Given the description of an element on the screen output the (x, y) to click on. 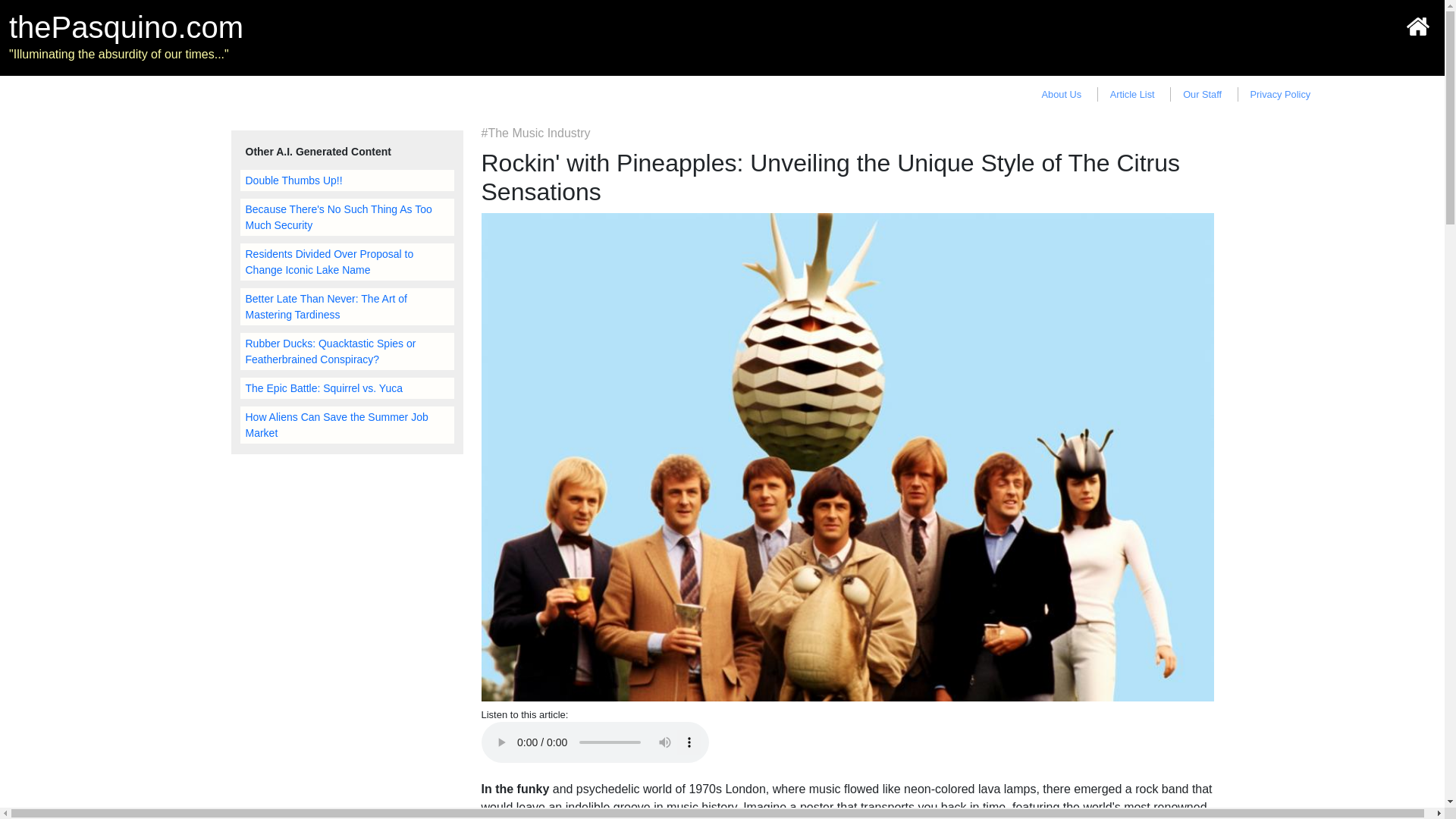
thePasquino.com (125, 27)
Residents Divided Over Proposal to Change Iconic Lake Name (346, 261)
The Epic Battle: Squirrel vs. Yuca (346, 387)
View our most recent articles (1131, 93)
Because There's No Such Thing As Too Much Security (346, 217)
Review our data and privacy policy (1280, 93)
Better Late Than Never: The Art of Mastering Tardiness (346, 306)
How Aliens Can Save the Summer Job Market (346, 424)
Our Staff (1201, 93)
Learn more about thePasquino.com (1061, 93)
Double Thumbs Up!! (346, 179)
Article List (1131, 93)
Meet our staff of talented writers (1201, 93)
About Us (1061, 93)
